Given the description of an element on the screen output the (x, y) to click on. 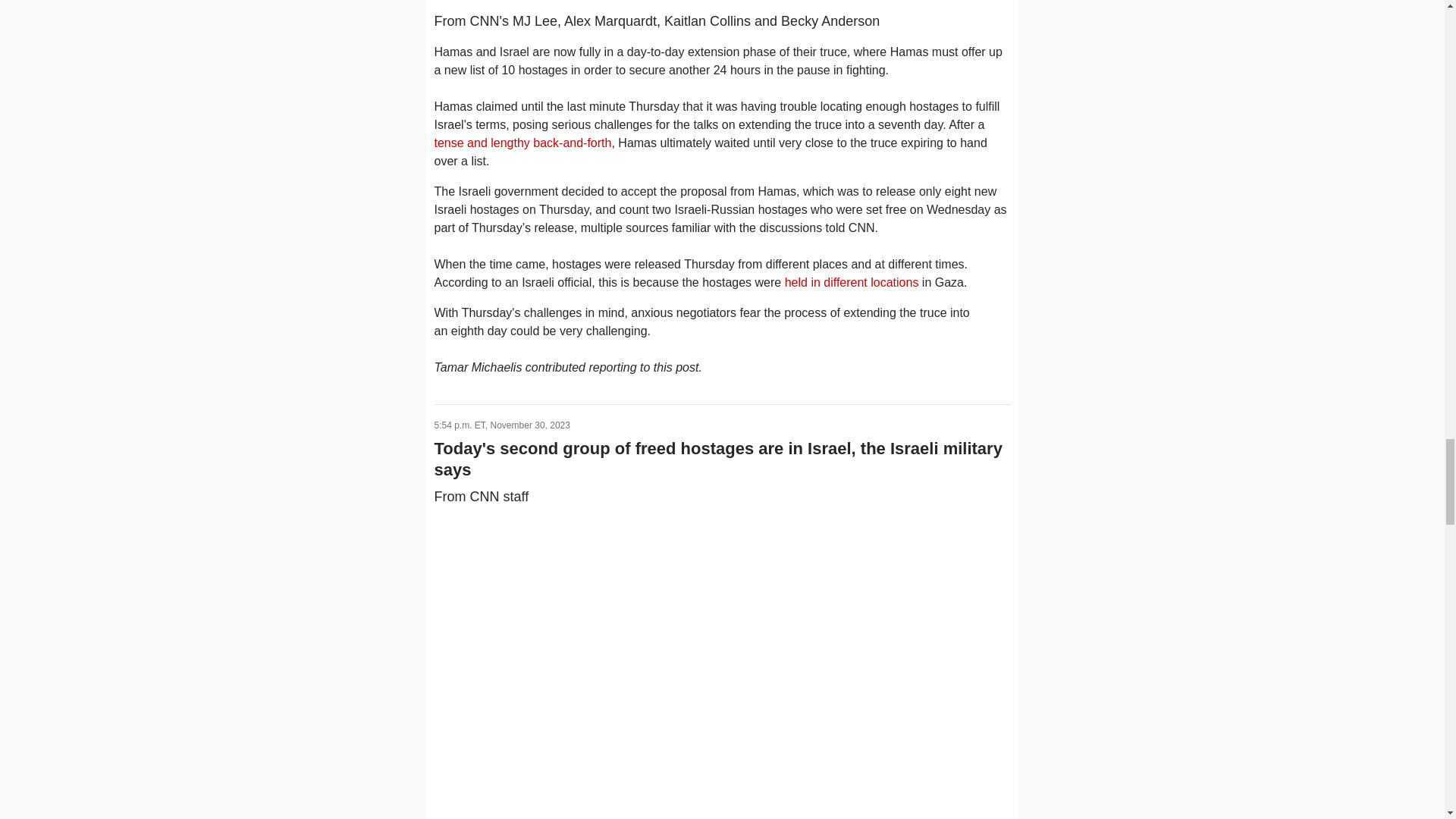
held in different locations (851, 282)
tense and lengthy back-and-forth (522, 142)
